Given the description of an element on the screen output the (x, y) to click on. 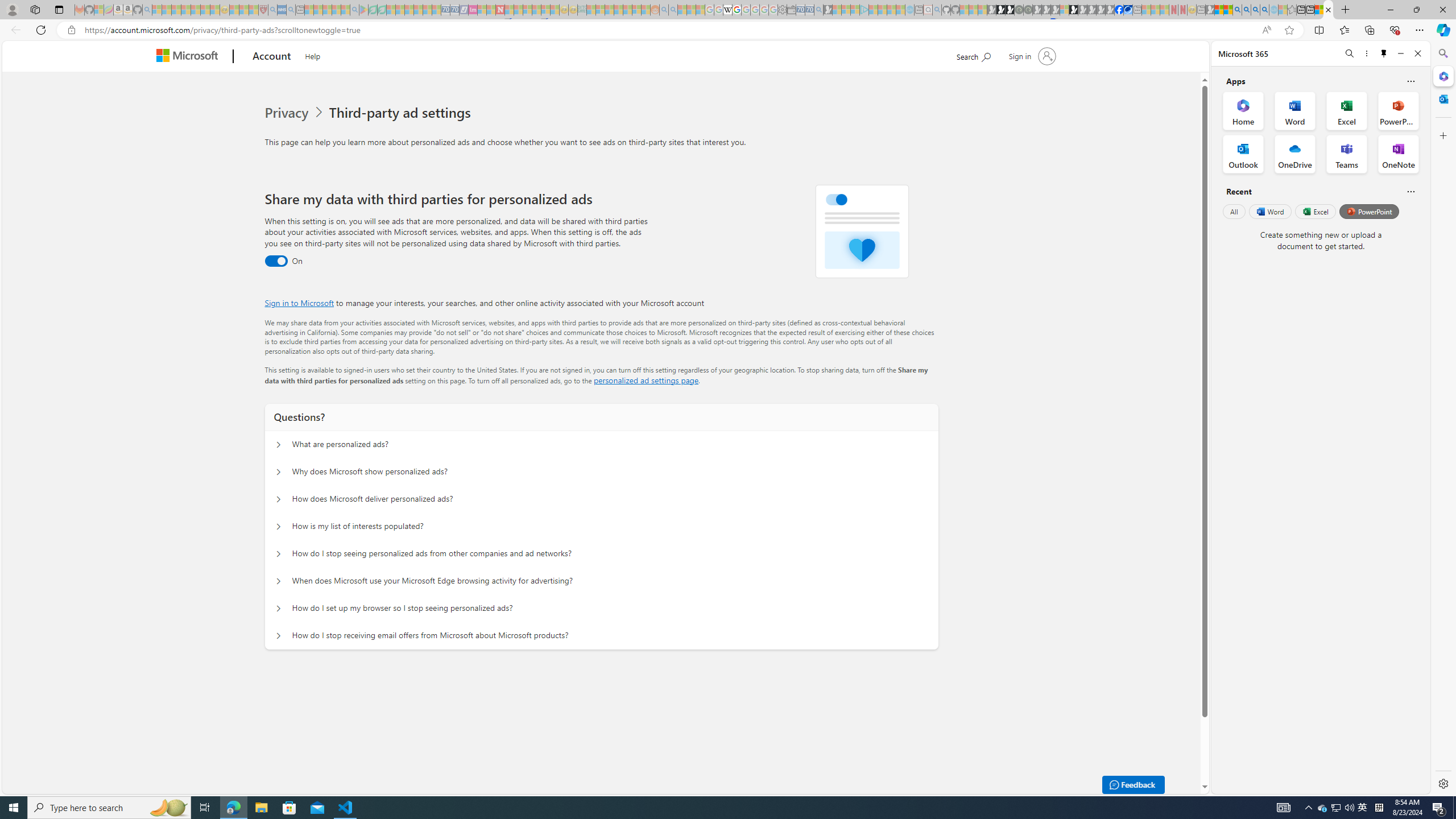
PowerPoint (1369, 210)
Word Office App (1295, 110)
